Given the description of an element on the screen output the (x, y) to click on. 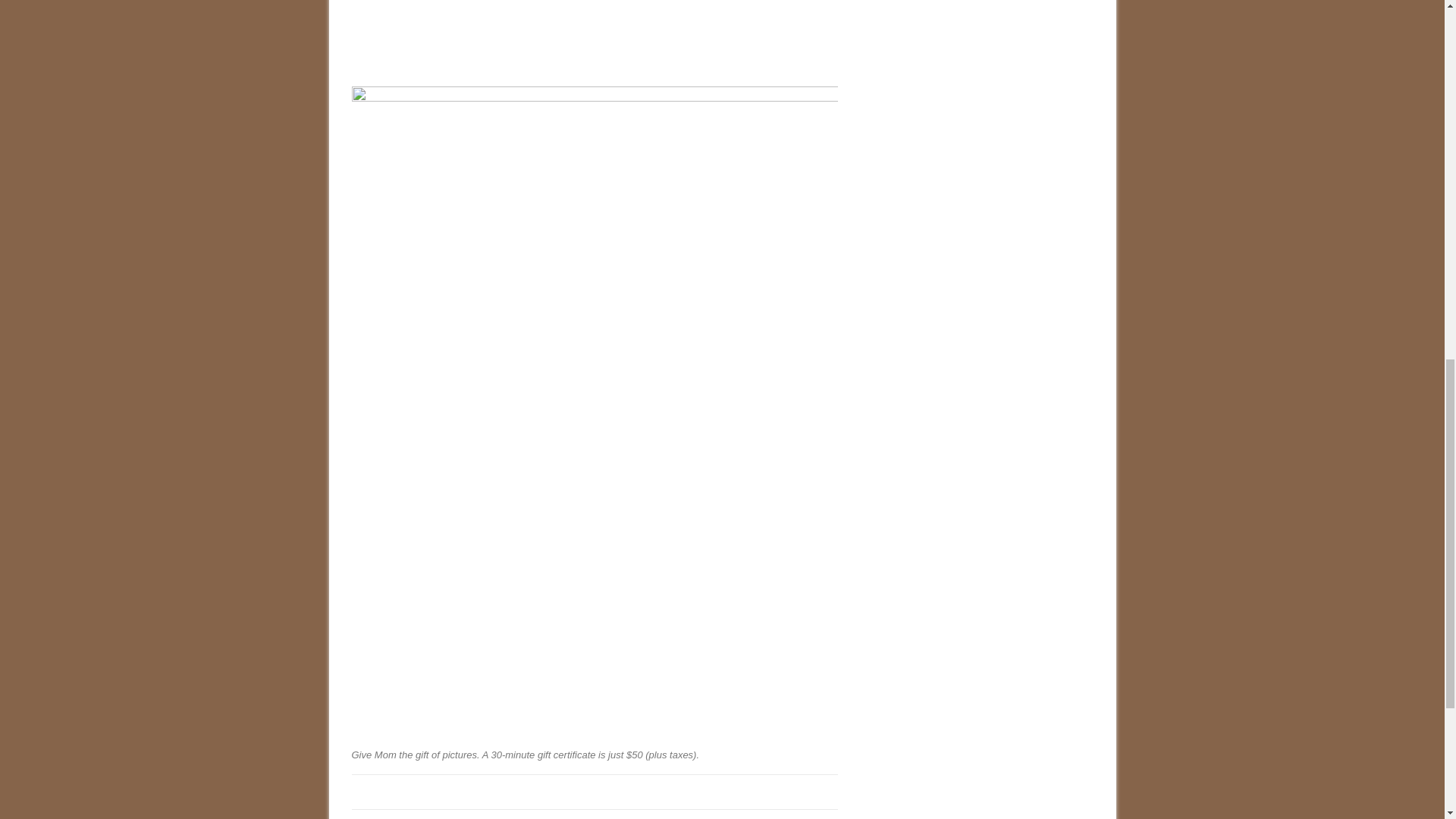
LynnW SteveT (405, 818)
Gift Certificates (657, 818)
Come see us (556, 818)
May 3, 2017 (484, 818)
11:59 pm (484, 818)
